Given the description of an element on the screen output the (x, y) to click on. 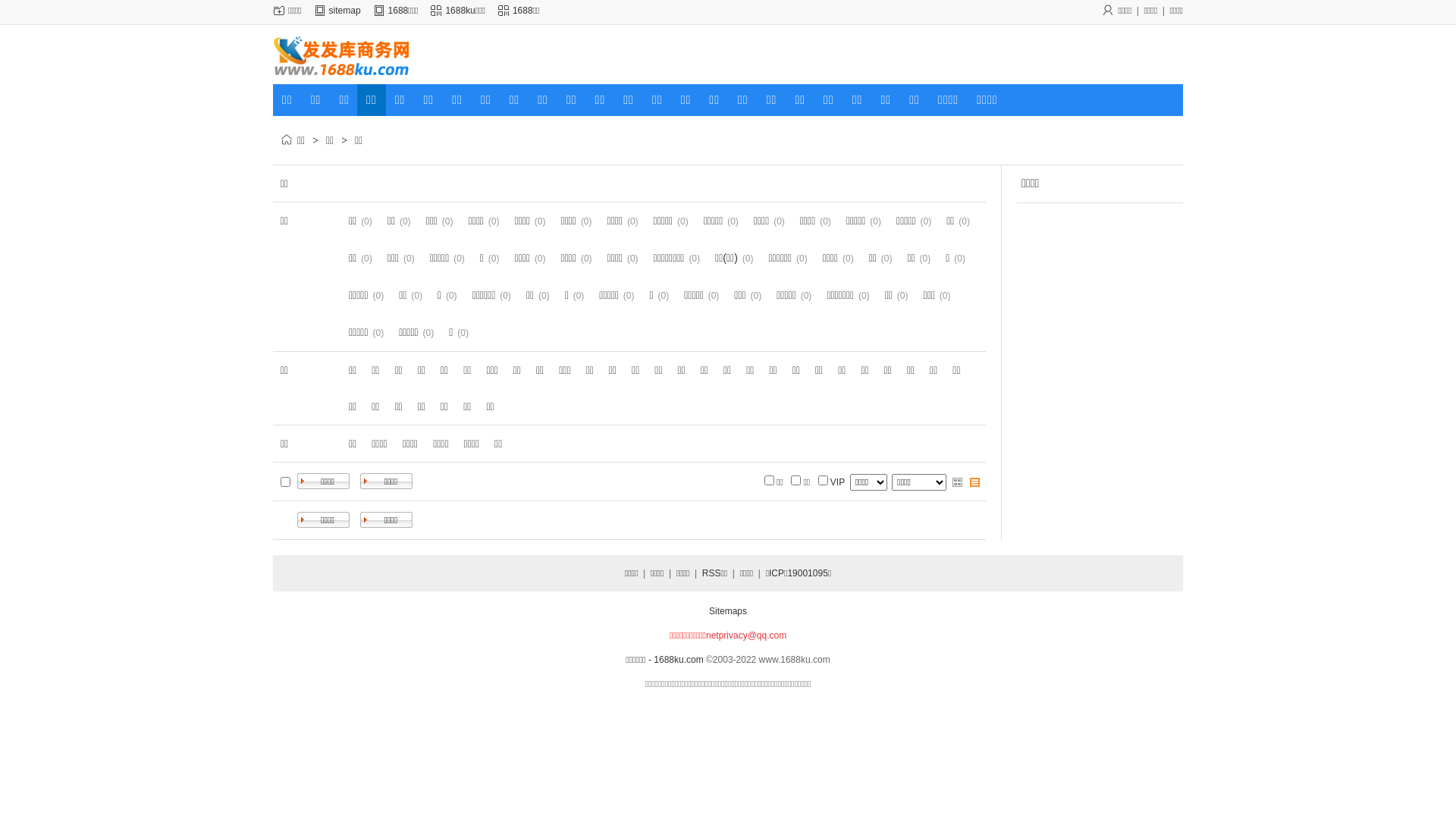
on Element type: text (769, 479)
on Element type: text (285, 481)
Sitemaps Element type: text (727, 610)
sitemap Element type: text (344, 10)
on Element type: text (795, 479)
on Element type: text (823, 479)
